Given the description of an element on the screen output the (x, y) to click on. 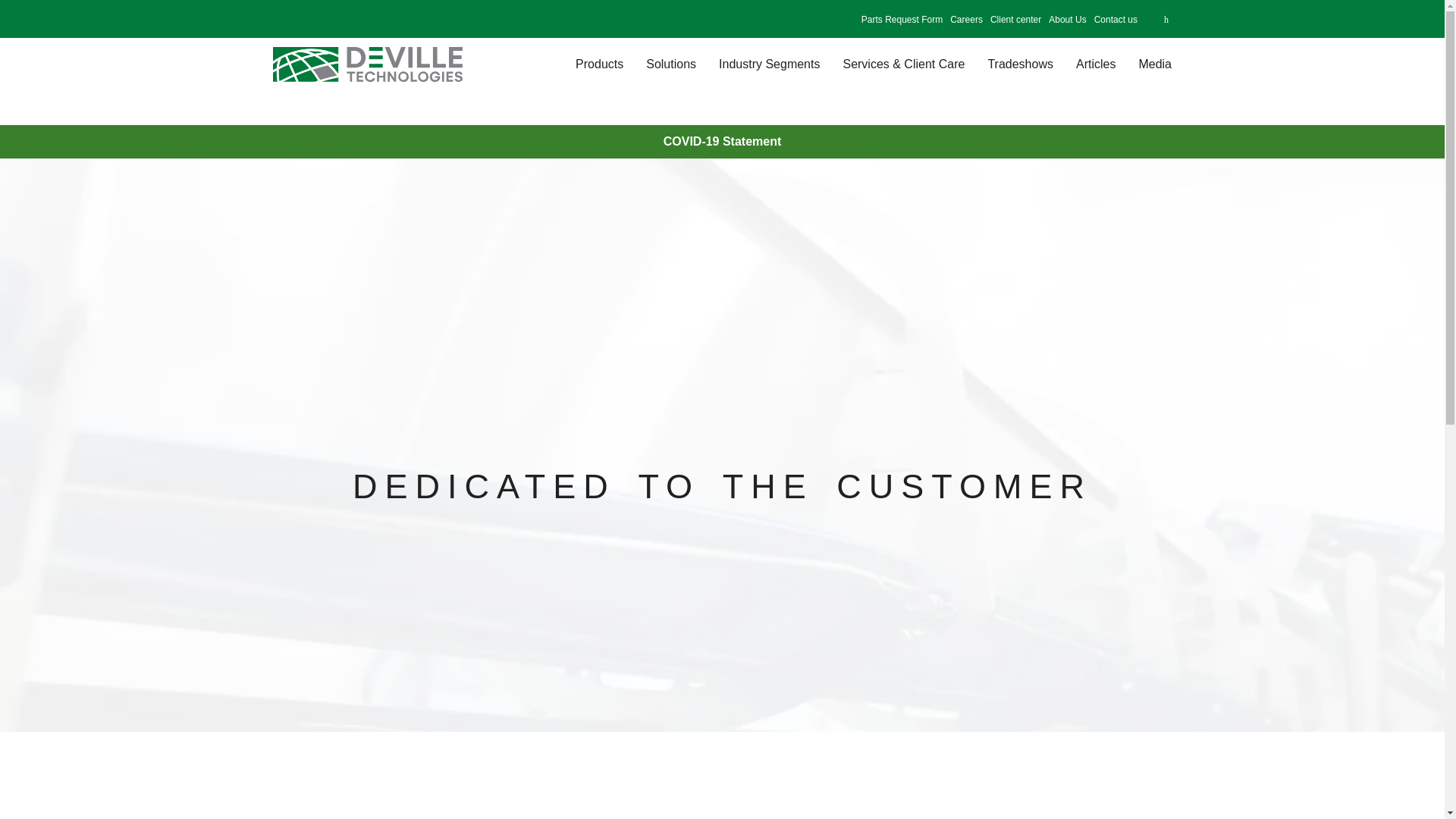
Industry Segments (769, 63)
Articles (1095, 63)
Contact us (1115, 19)
Parts Request Form (901, 19)
Products (599, 63)
COVID-19 Statement (722, 141)
About Us (1067, 19)
Tradeshows (1019, 63)
Solutions (670, 63)
Media (1154, 63)
Careers (966, 19)
Client center (1016, 19)
